Given the description of an element on the screen output the (x, y) to click on. 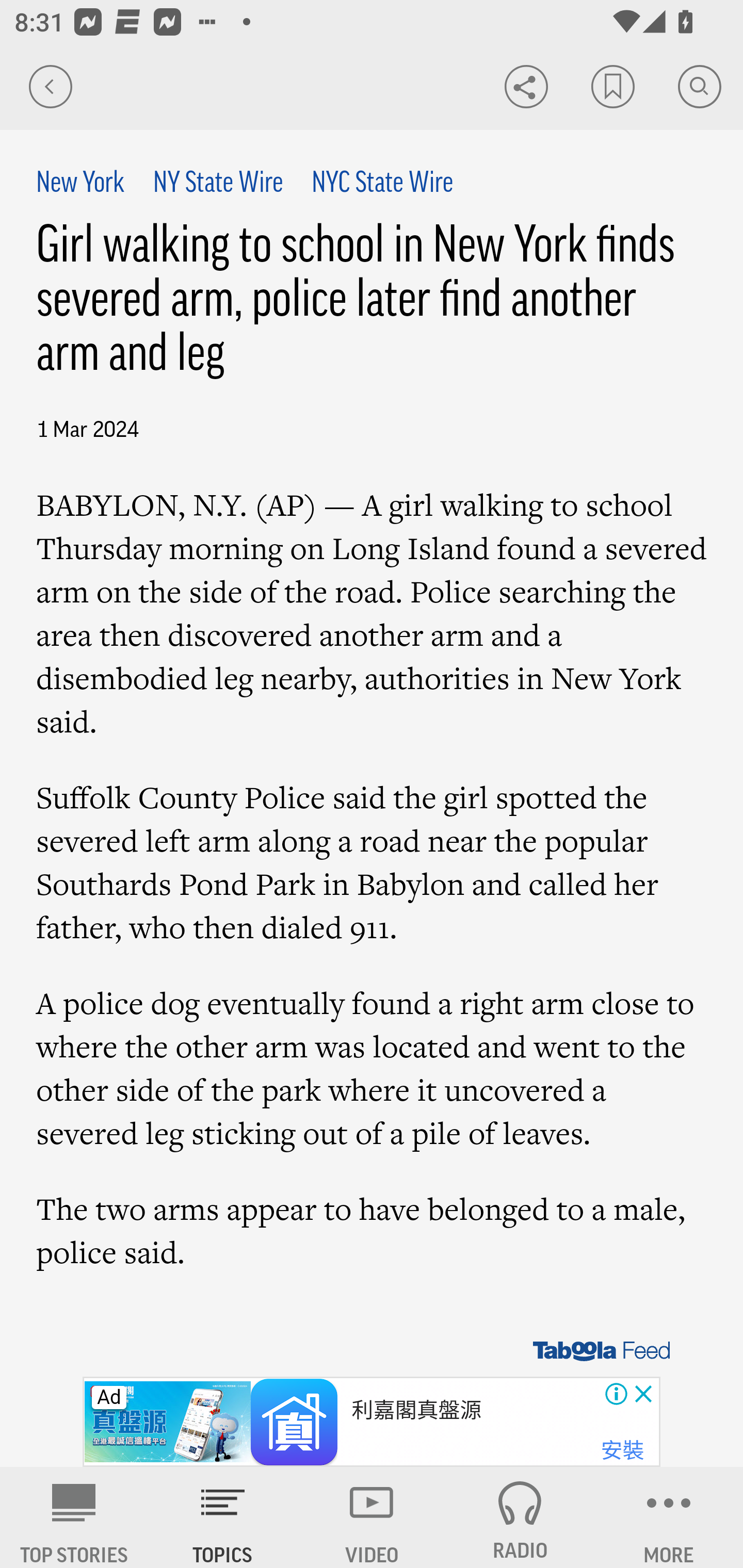
New York (81, 184)
NY State Wire (217, 184)
NYC State Wire (382, 184)
利嘉閣真盤源 (416, 1410)
安裝 (621, 1450)
AP News TOP STORIES (74, 1517)
TOPICS (222, 1517)
VIDEO (371, 1517)
RADIO (519, 1517)
MORE (668, 1517)
